Given the description of an element on the screen output the (x, y) to click on. 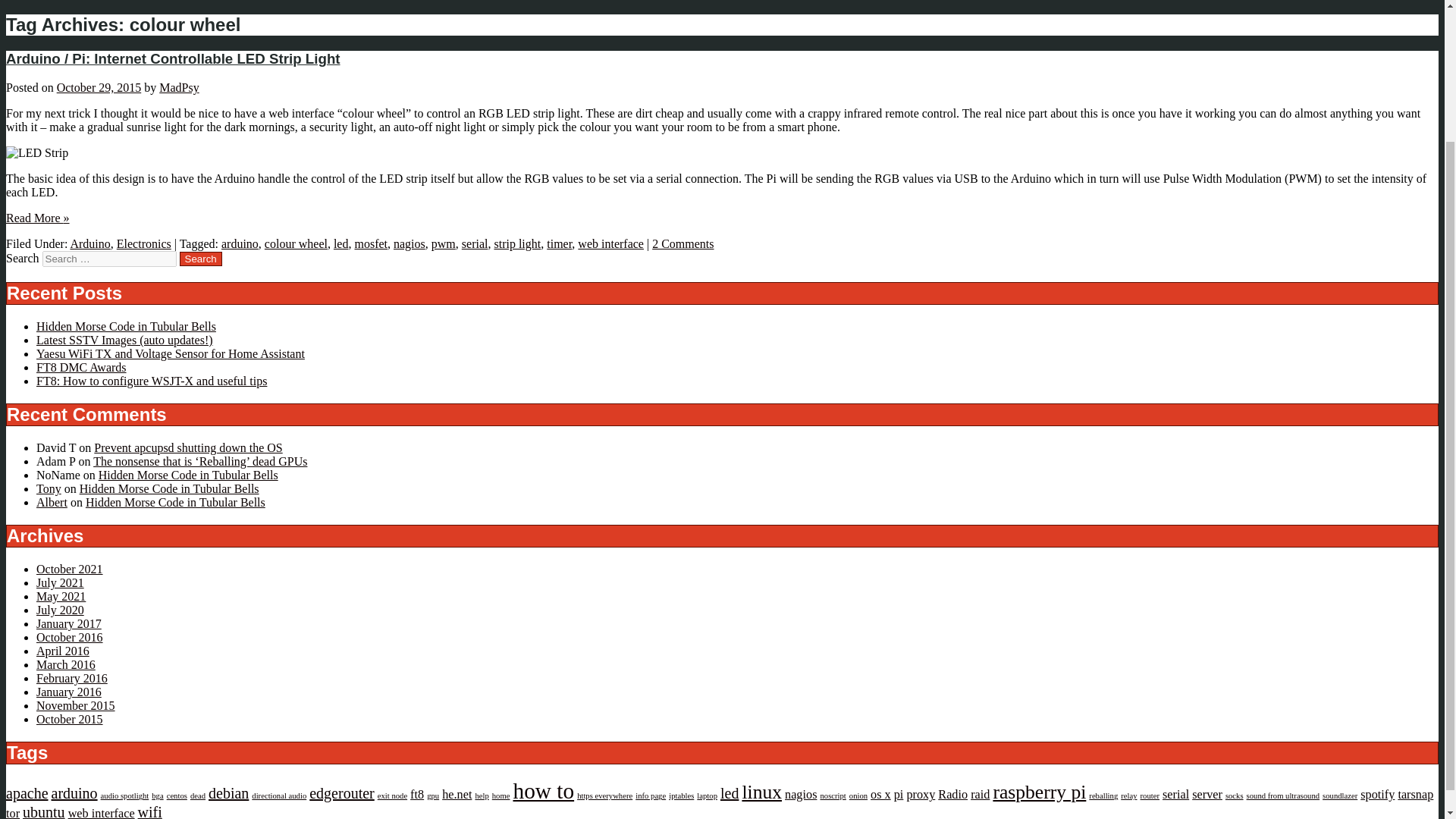
pwm (442, 243)
serial (474, 243)
Albert (51, 502)
15:07 (98, 87)
nagios (409, 243)
strip light (516, 243)
Tony (48, 488)
Search (200, 258)
web interface (610, 243)
View all posts by MadPsy (178, 87)
July 2020 (60, 609)
Hidden Morse Code in Tubular Bells (125, 326)
FT8: How to configure WSJT-X and useful tips (151, 380)
October 2016 (69, 636)
October 2021 (69, 568)
